Given the description of an element on the screen output the (x, y) to click on. 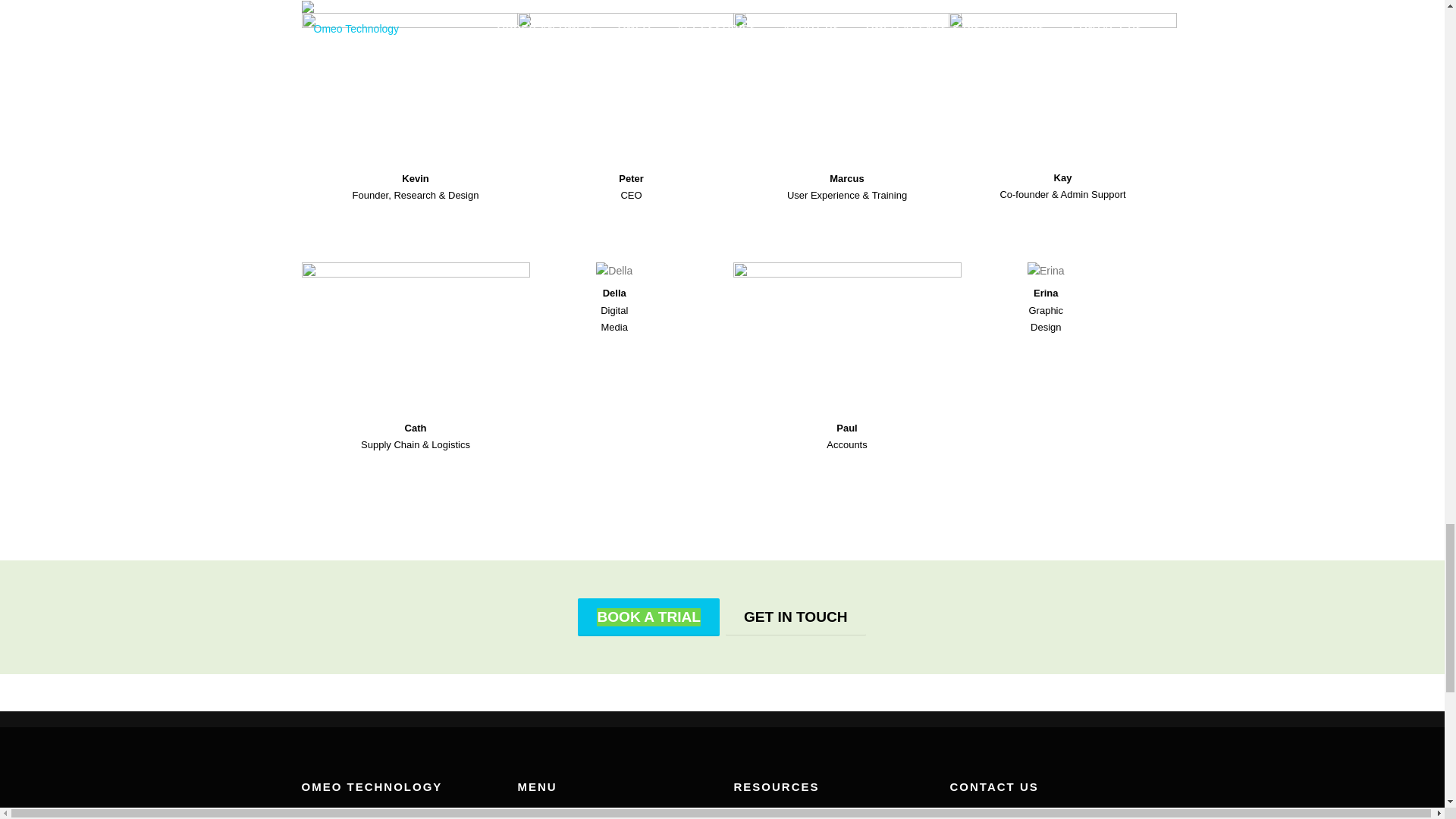
FAQ (744, 813)
BOOK A TRIAL (648, 617)
GET IN TOUCH (795, 617)
Order an Omeo (553, 813)
